Given the description of an element on the screen output the (x, y) to click on. 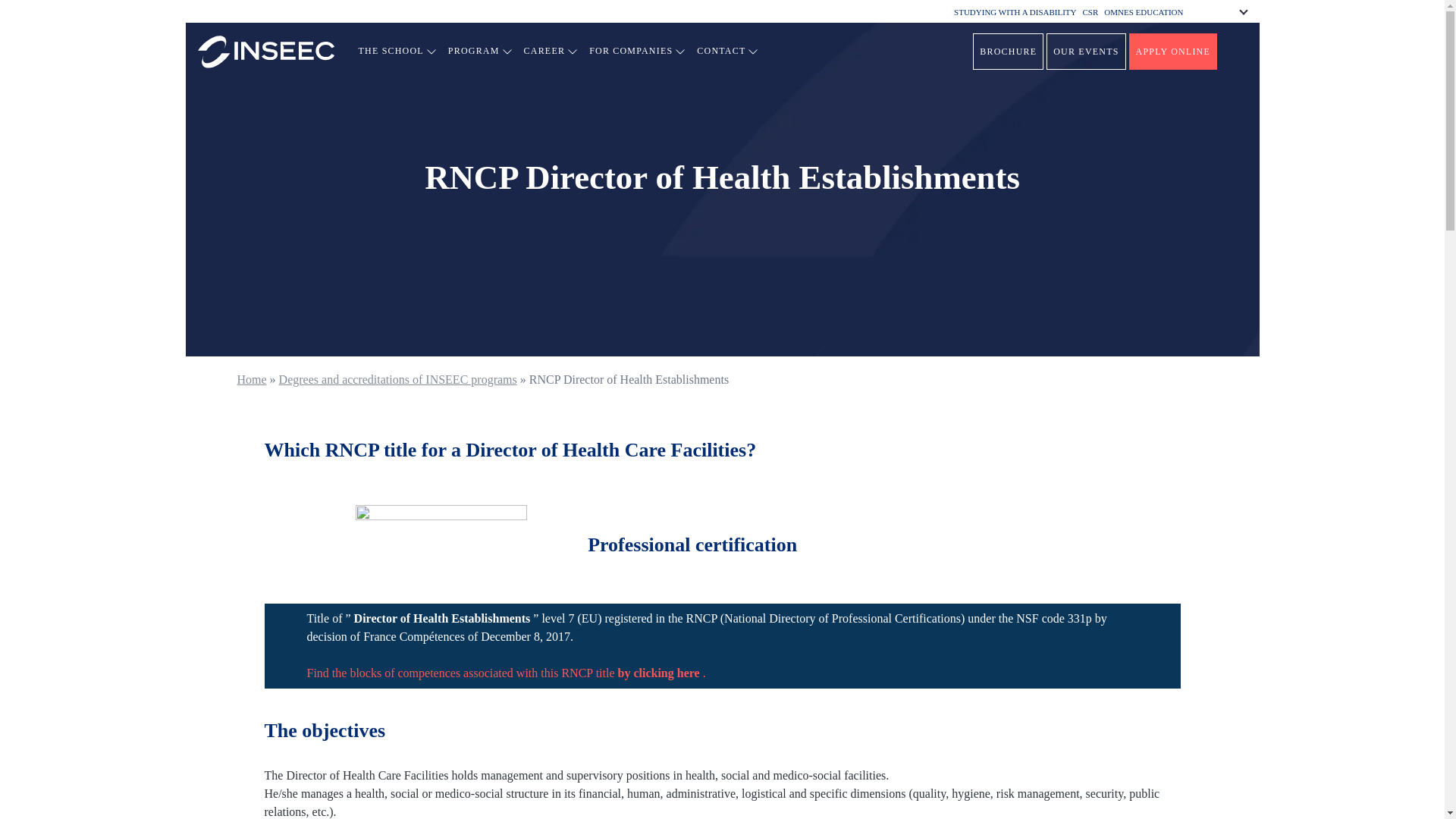
THE SCHOOL (396, 50)
